Given the description of an element on the screen output the (x, y) to click on. 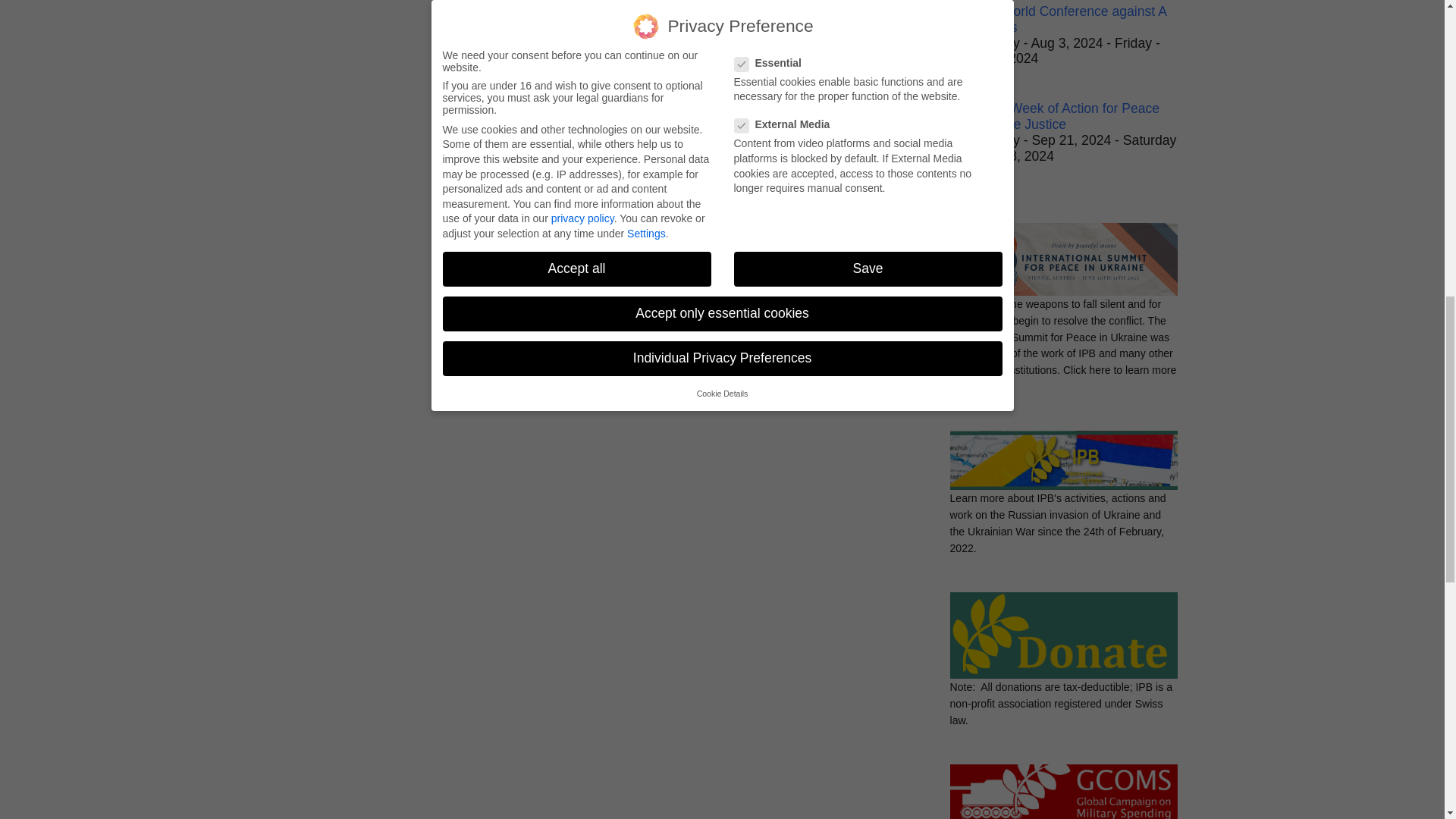
UkrainianWar (1062, 467)
GCOMS (1062, 791)
UkrainianWar (1062, 266)
Donate (1062, 642)
